Given the description of an element on the screen output the (x, y) to click on. 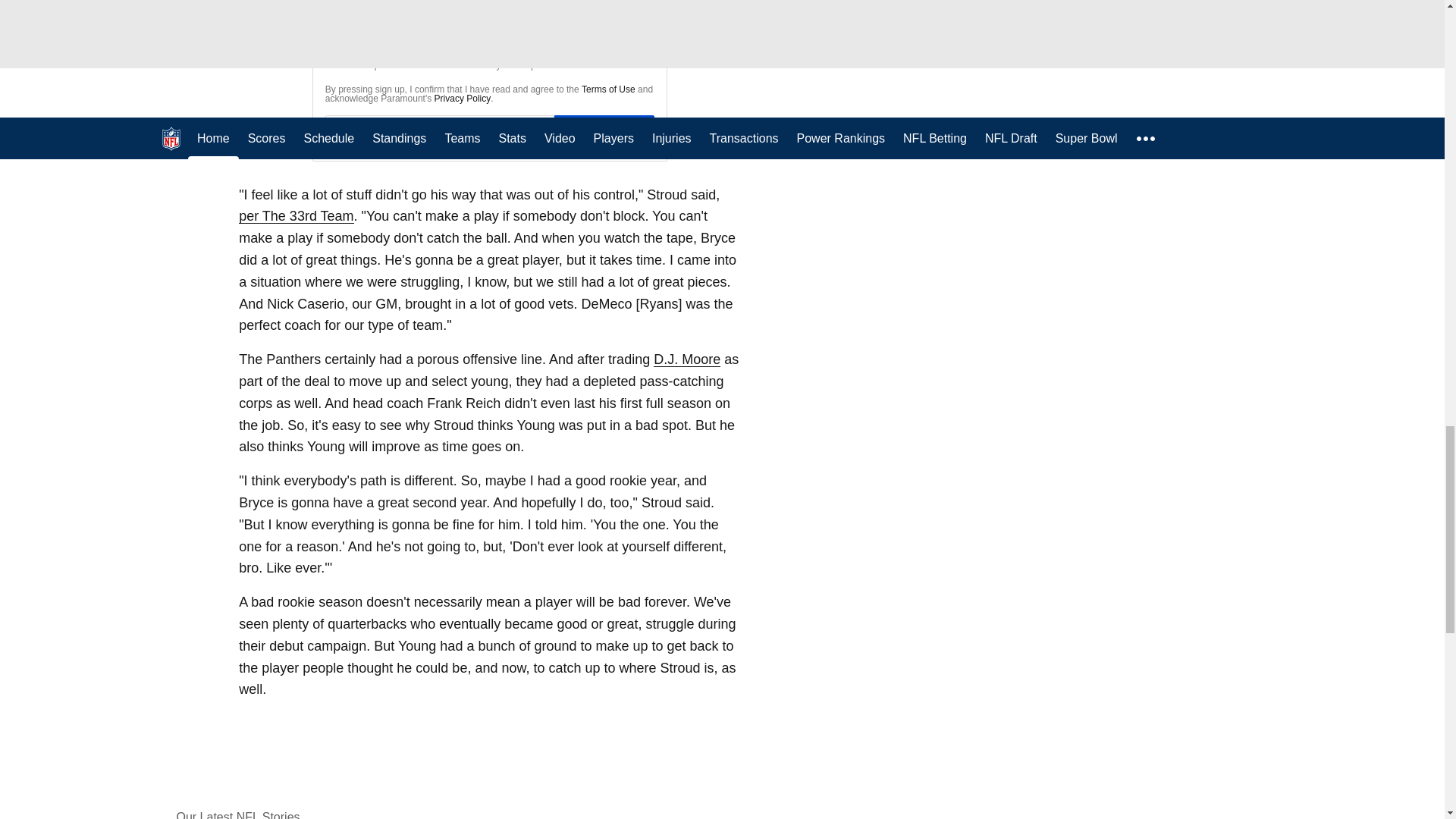
Sign Up (603, 131)
on (335, 55)
